Given the description of an element on the screen output the (x, y) to click on. 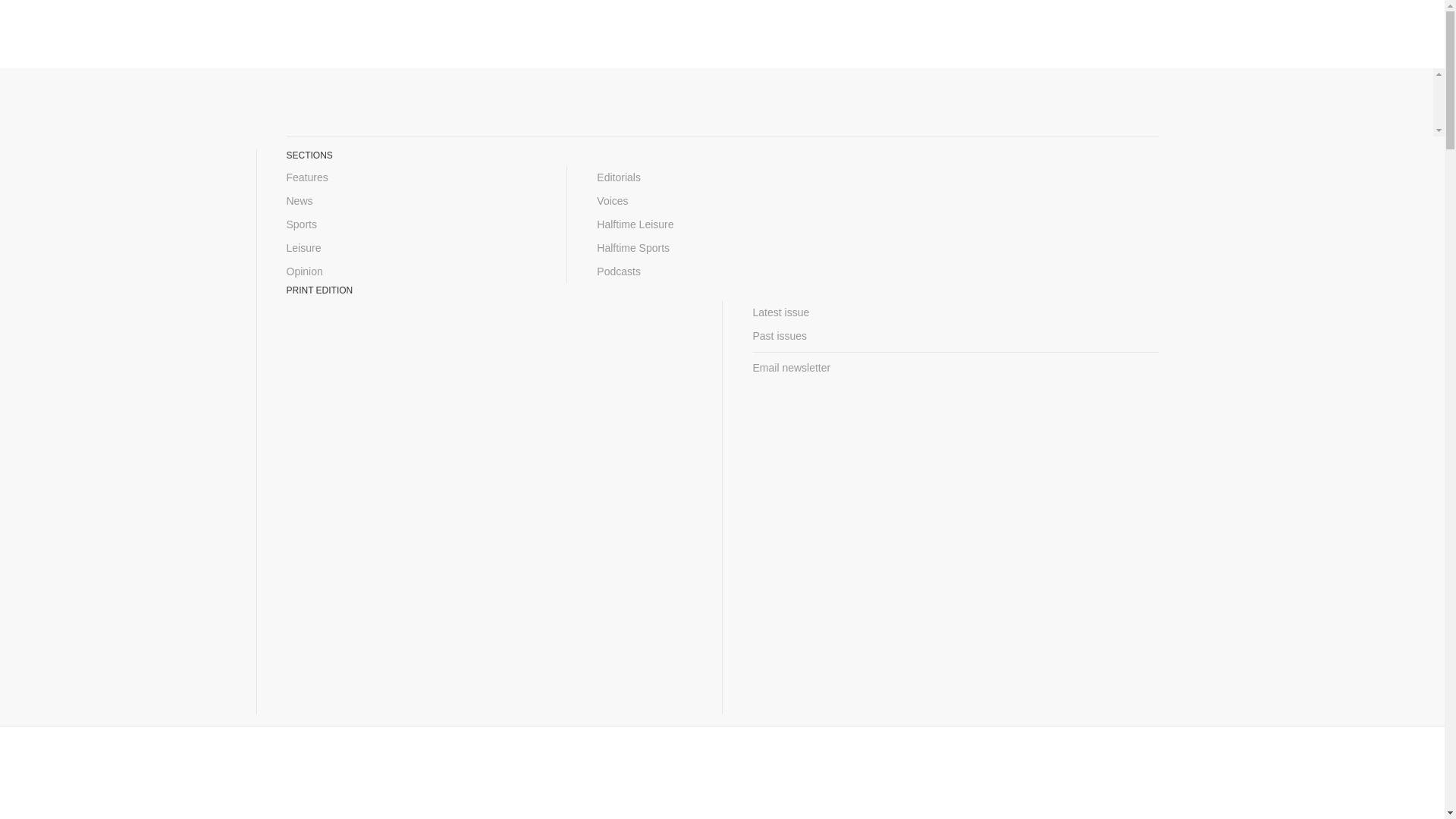
News (411, 200)
Past issues (954, 336)
Opinion (411, 271)
Halftime Sports (721, 248)
Features (411, 177)
Sports (411, 224)
Leisure (411, 248)
Latest issue (954, 312)
Email newsletter (954, 368)
Editorials (721, 177)
